Given the description of an element on the screen output the (x, y) to click on. 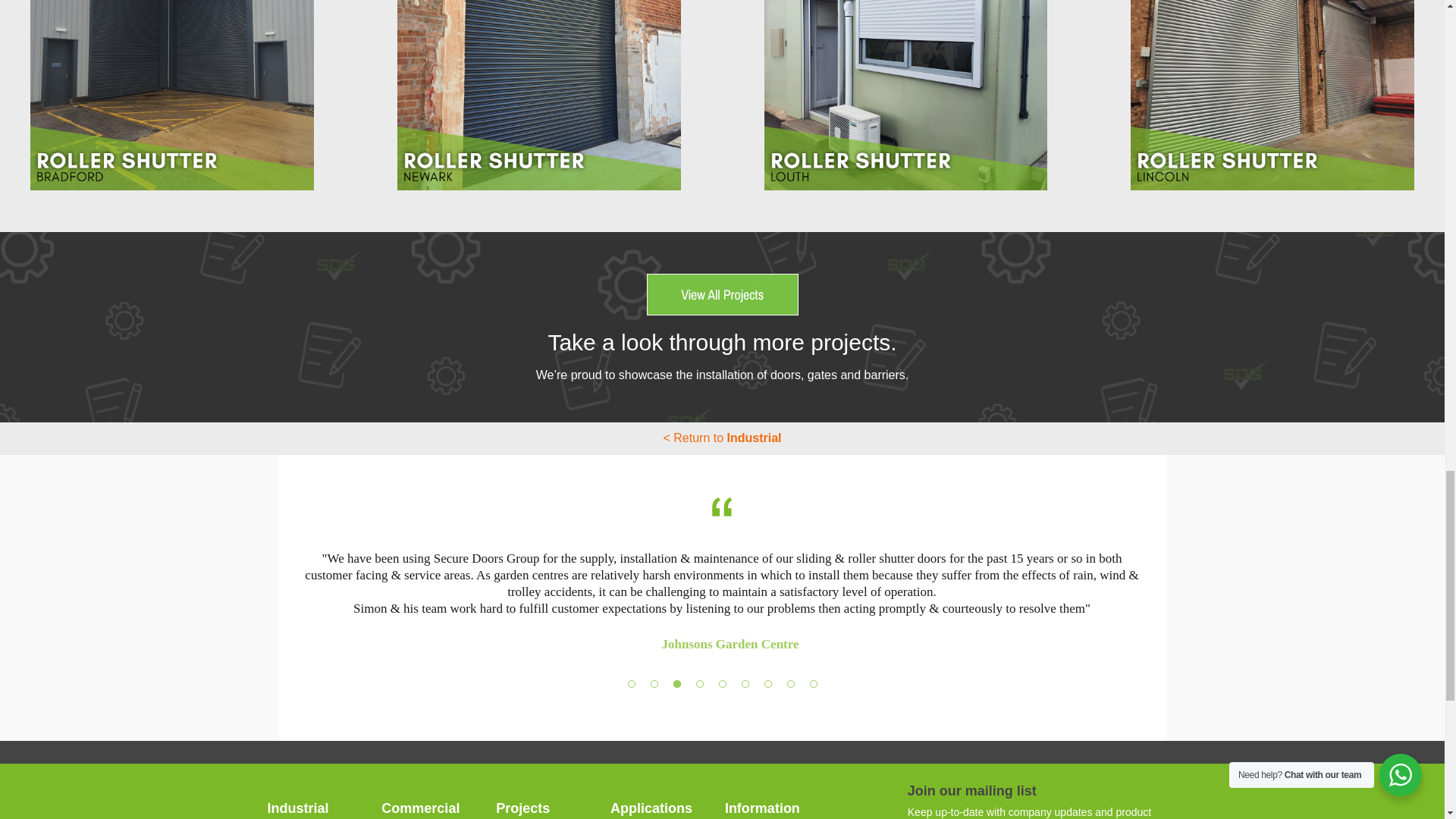
View All SDG UK Projects (721, 294)
Return to Industrial (721, 437)
SDG UK Testimonials (722, 506)
